Given the description of an element on the screen output the (x, y) to click on. 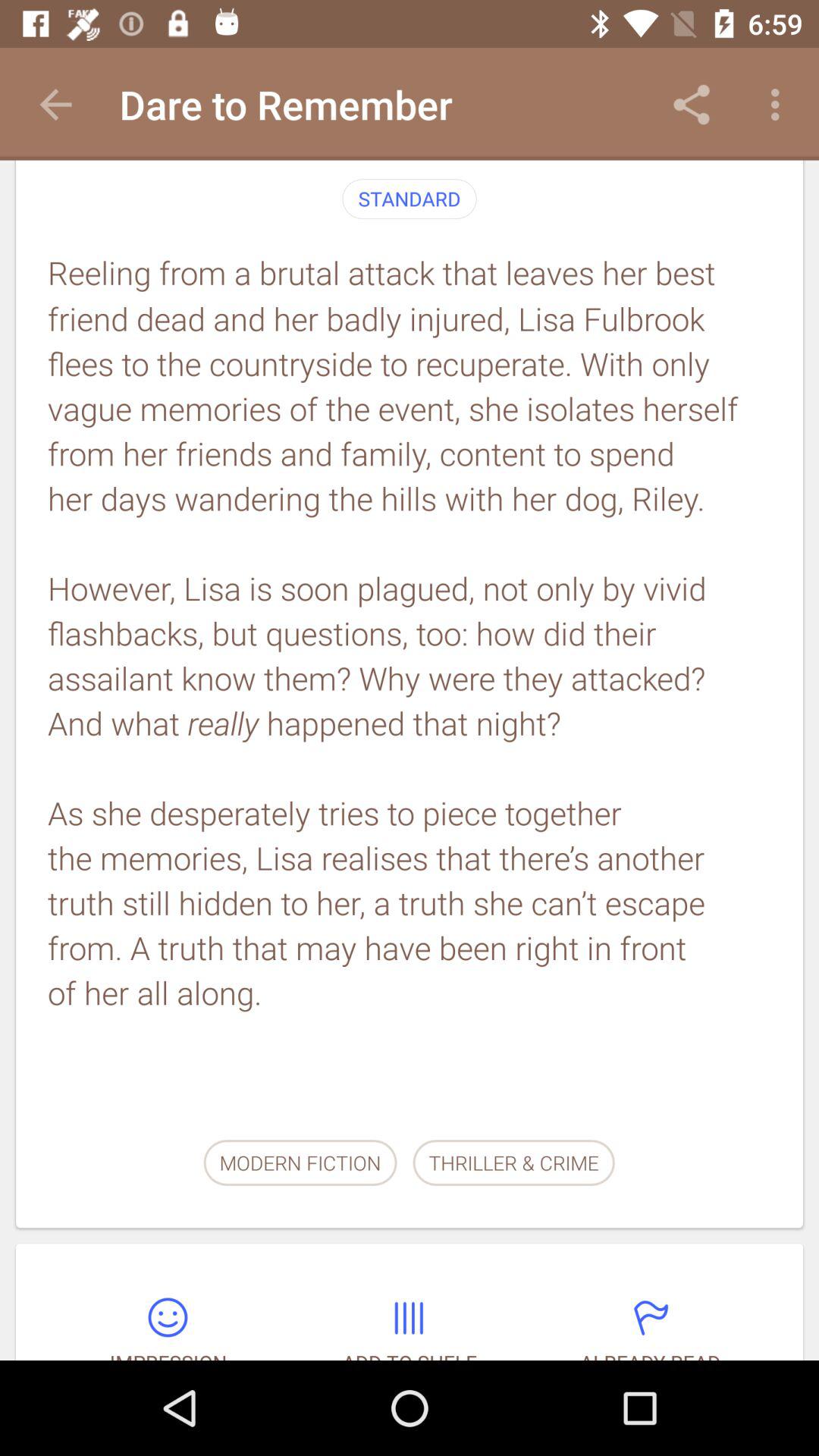
select to rememb on top of the page (306, 93)
